Given the description of an element on the screen output the (x, y) to click on. 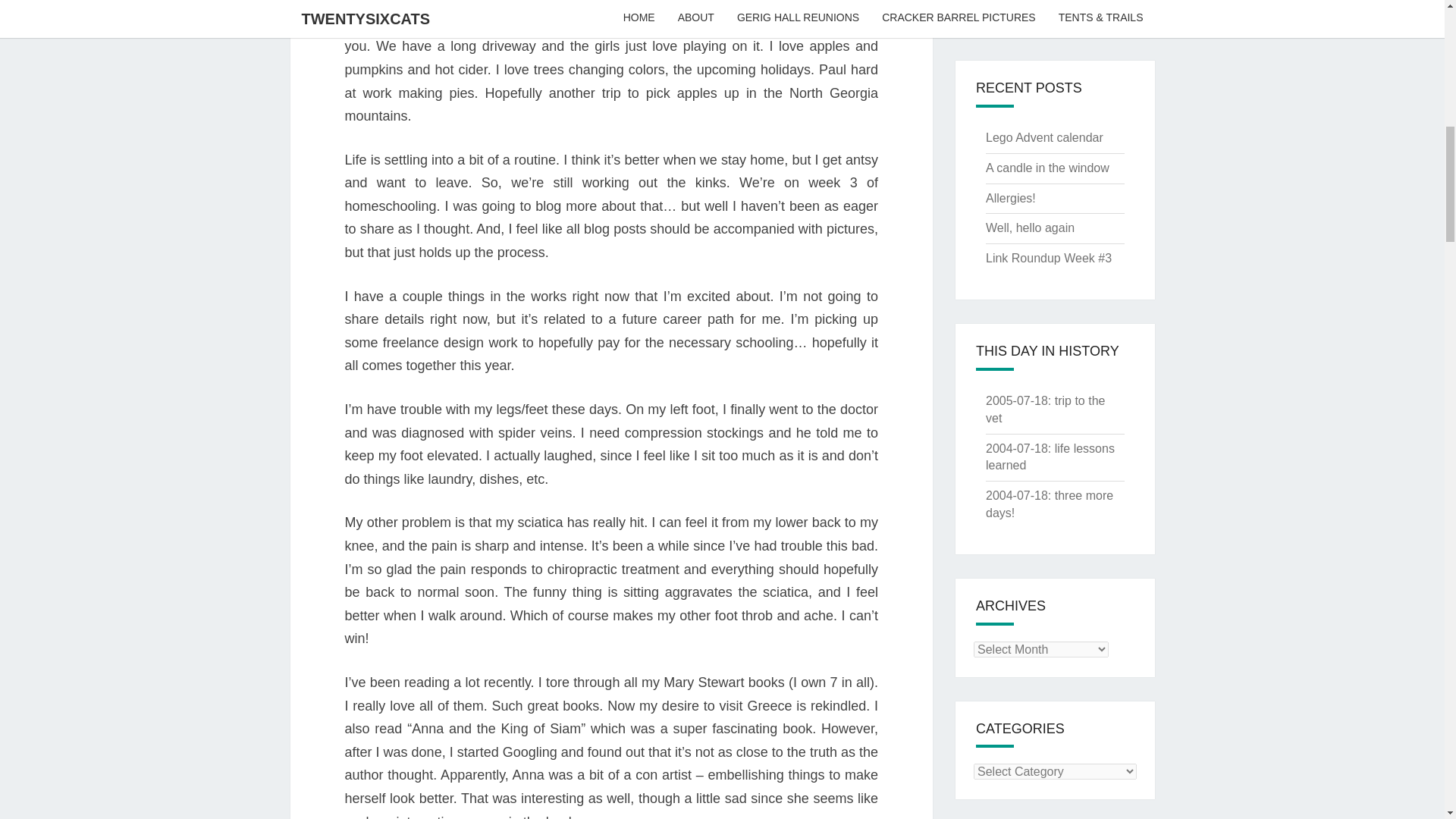
Well, hello again (1047, 0)
three more days! (1049, 503)
life lessons learned (1050, 457)
Well, hello again (1029, 227)
Lego Advent calendar (1044, 137)
A candle in the window (1047, 167)
trip to the vet (1045, 409)
Allergies! (1010, 197)
